Given the description of an element on the screen output the (x, y) to click on. 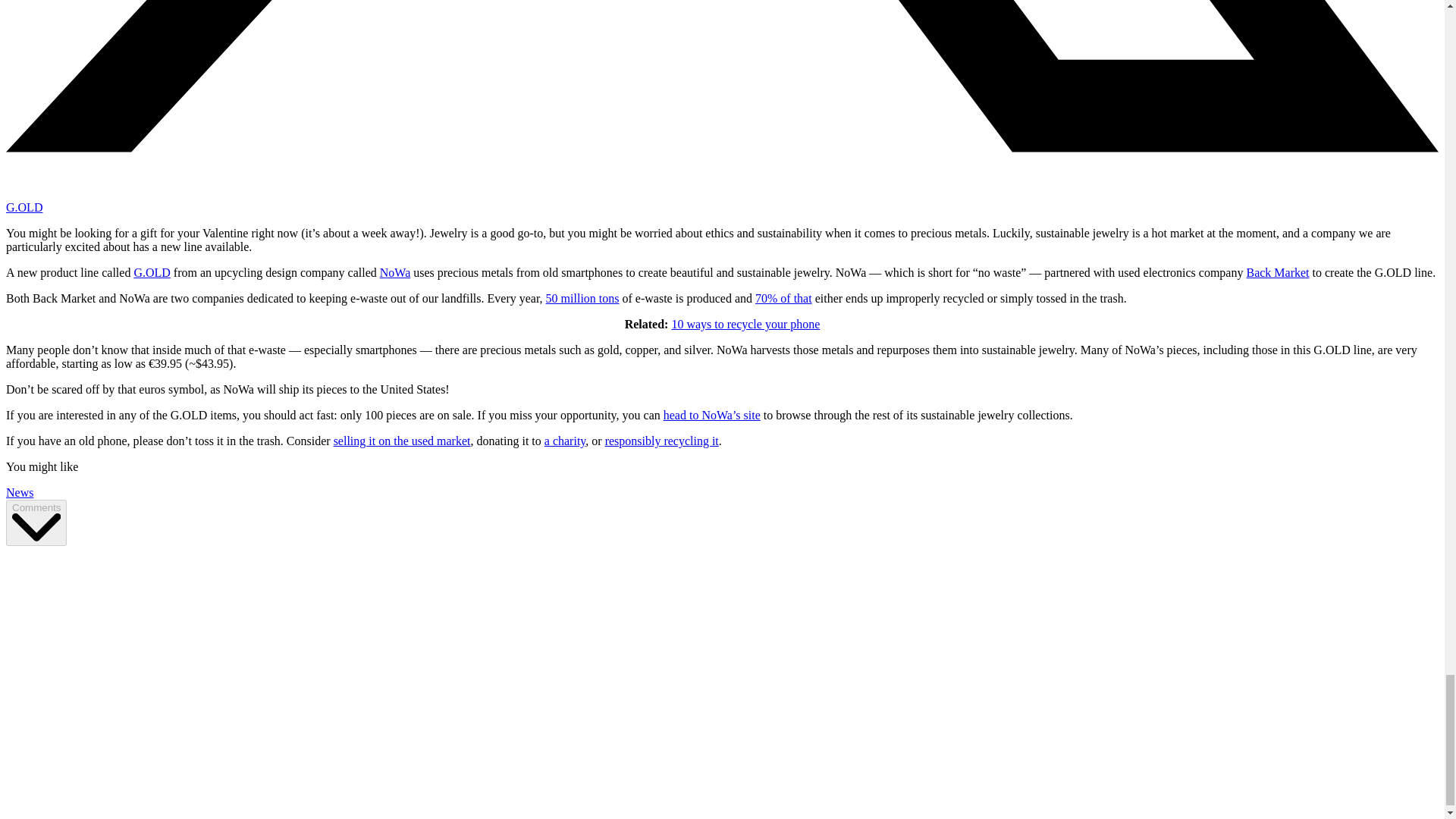
50 million tons (583, 297)
G.OLD (151, 272)
Back Market (1277, 272)
News (19, 492)
responsibly recycling it (662, 440)
Comments (35, 522)
G.OLD (23, 206)
10 ways to recycle your phone (745, 323)
a charity (564, 440)
selling it on the used market (401, 440)
NoWa (395, 272)
